Given the description of an element on the screen output the (x, y) to click on. 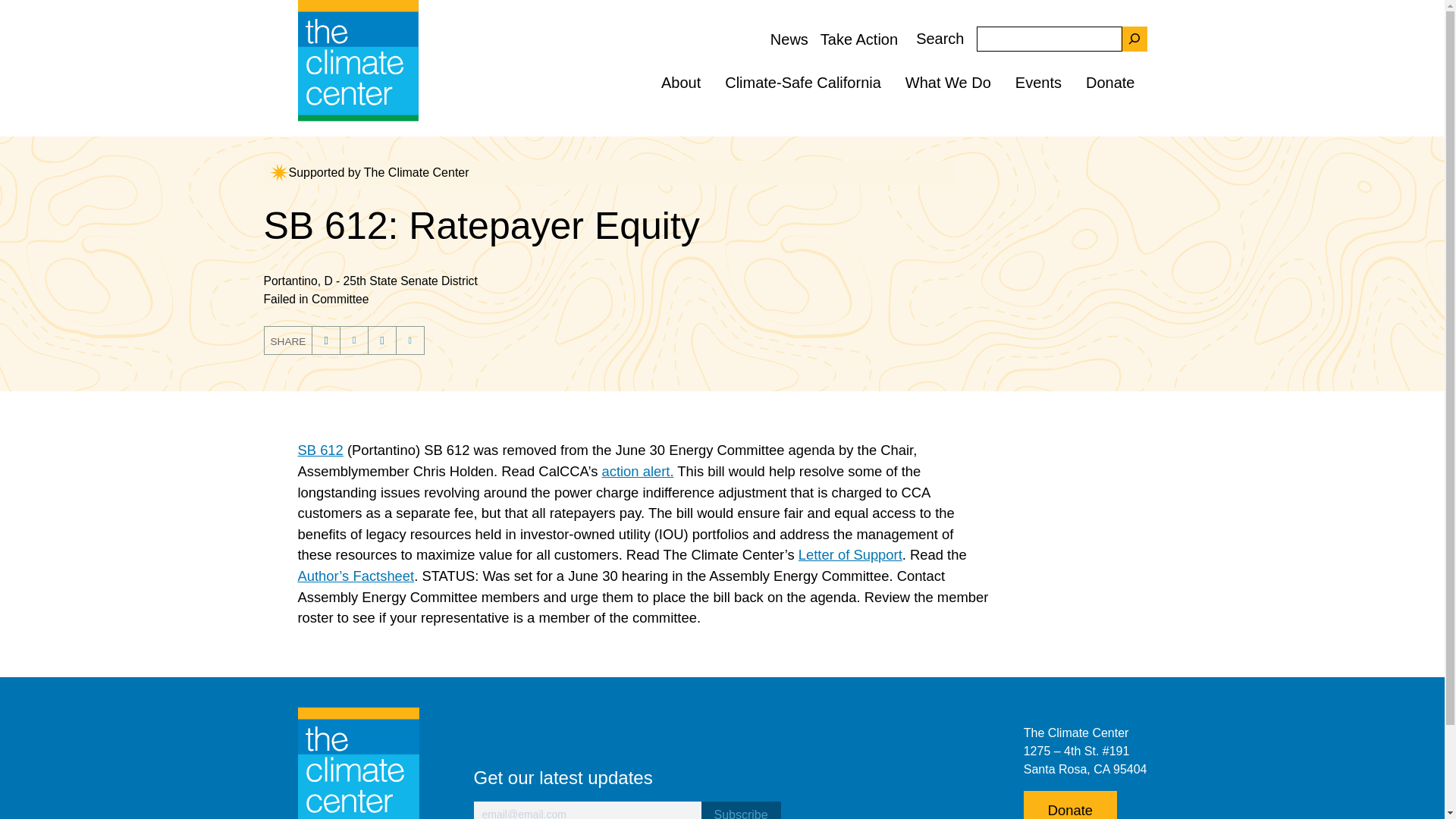
Donate (1110, 82)
Subscribe (740, 810)
Take Action (858, 38)
News (788, 38)
Events (1038, 82)
About (681, 82)
Climate-Safe California (803, 82)
What We Do (948, 82)
